Given the description of an element on the screen output the (x, y) to click on. 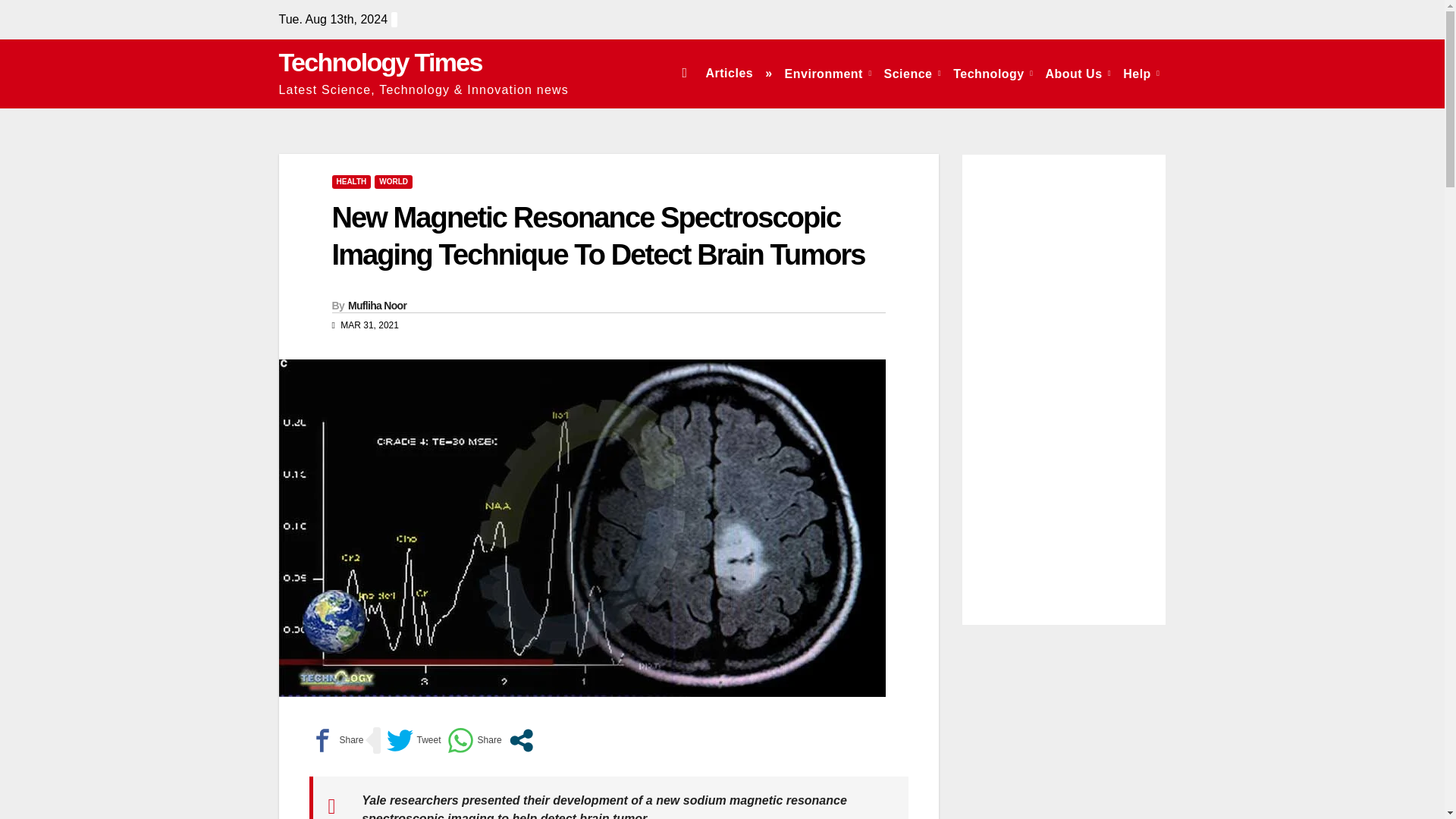
About Us (1077, 73)
Science (912, 73)
Science (912, 73)
Technology Times (380, 61)
Technology (993, 73)
Technology (993, 73)
Environment (827, 73)
Environment (827, 73)
